Given the description of an element on the screen output the (x, y) to click on. 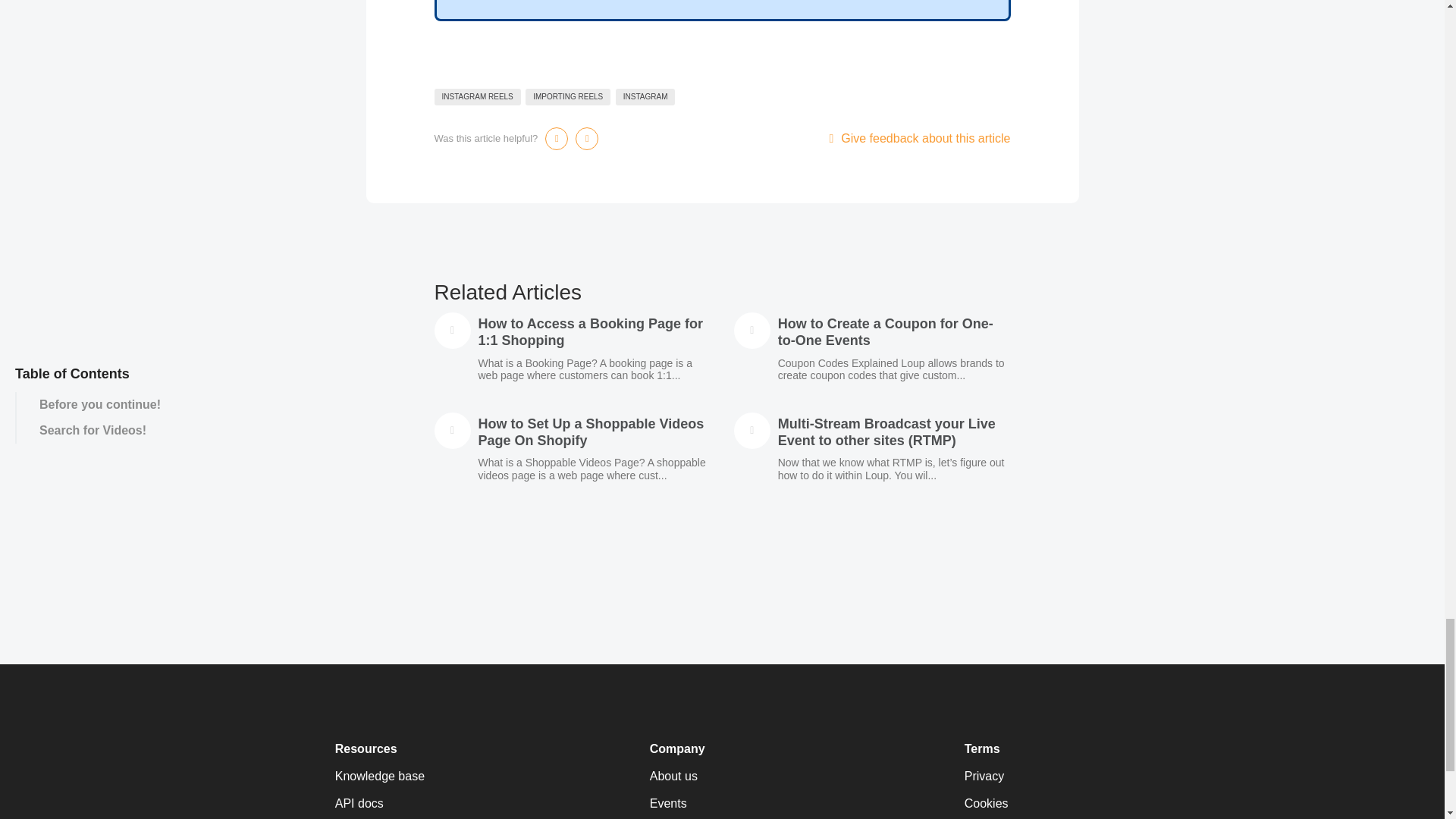
About us (721, 776)
INSTAGRAM REELS (476, 96)
IMPORTING REELS (567, 96)
Cookies (1036, 803)
Give feedback about this article (919, 138)
How to Create a Coupon for One-to-One Events (884, 332)
API docs (407, 803)
How to Set Up a Shoppable Videos Page On Shopify (590, 431)
Knowledge base (407, 776)
Privacy (1036, 776)
